Given the description of an element on the screen output the (x, y) to click on. 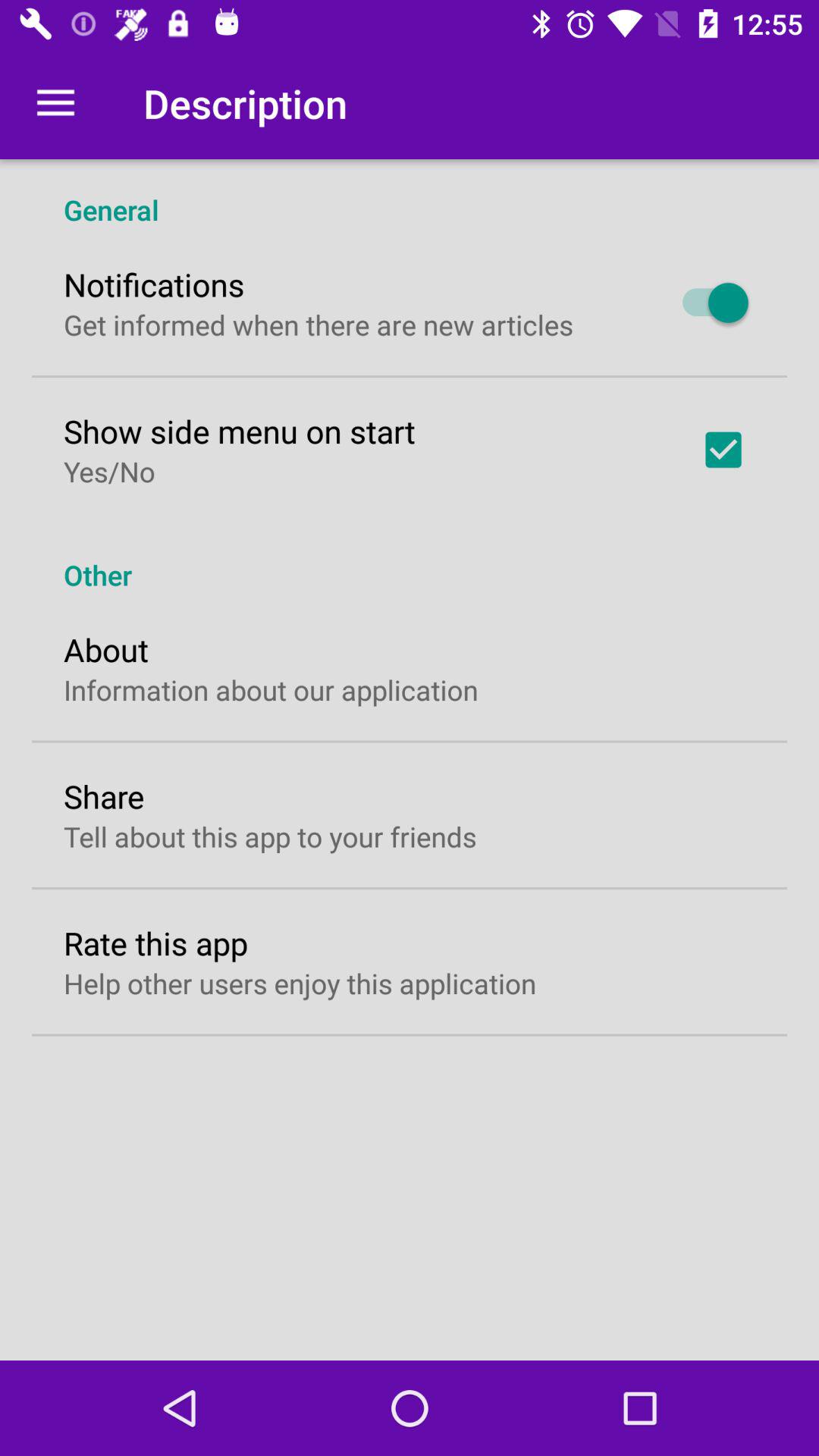
select the icon below the get informed when icon (239, 430)
